Given the description of an element on the screen output the (x, y) to click on. 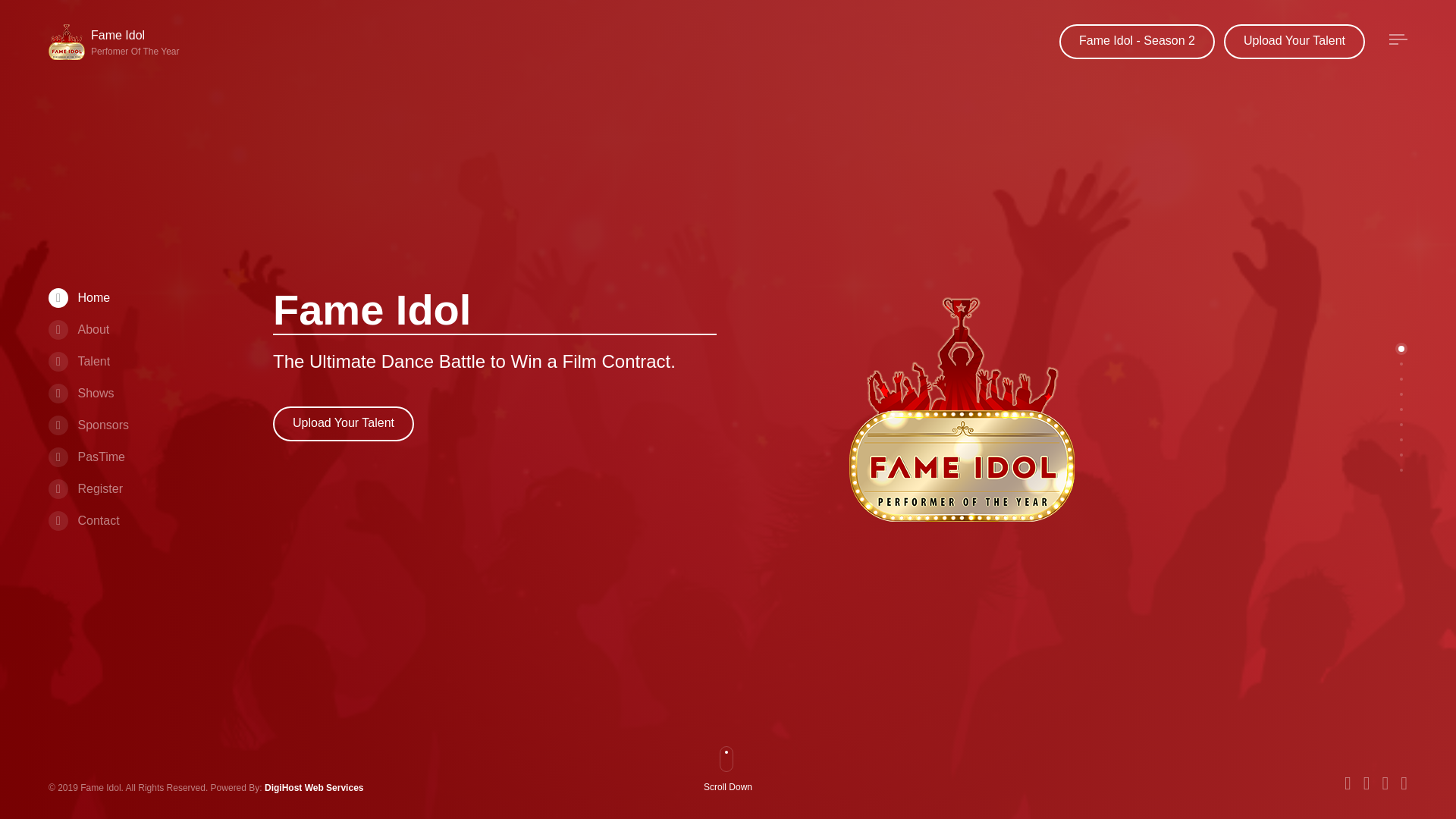
Talent (79, 360)
DigiHost Web Services (117, 42)
Sponsors (314, 787)
Upload Your Talent (88, 424)
Contact (1294, 41)
About (83, 520)
Fame Idol - Season 2 (78, 328)
Scroll Down (1136, 41)
Shows (733, 788)
